Given the description of an element on the screen output the (x, y) to click on. 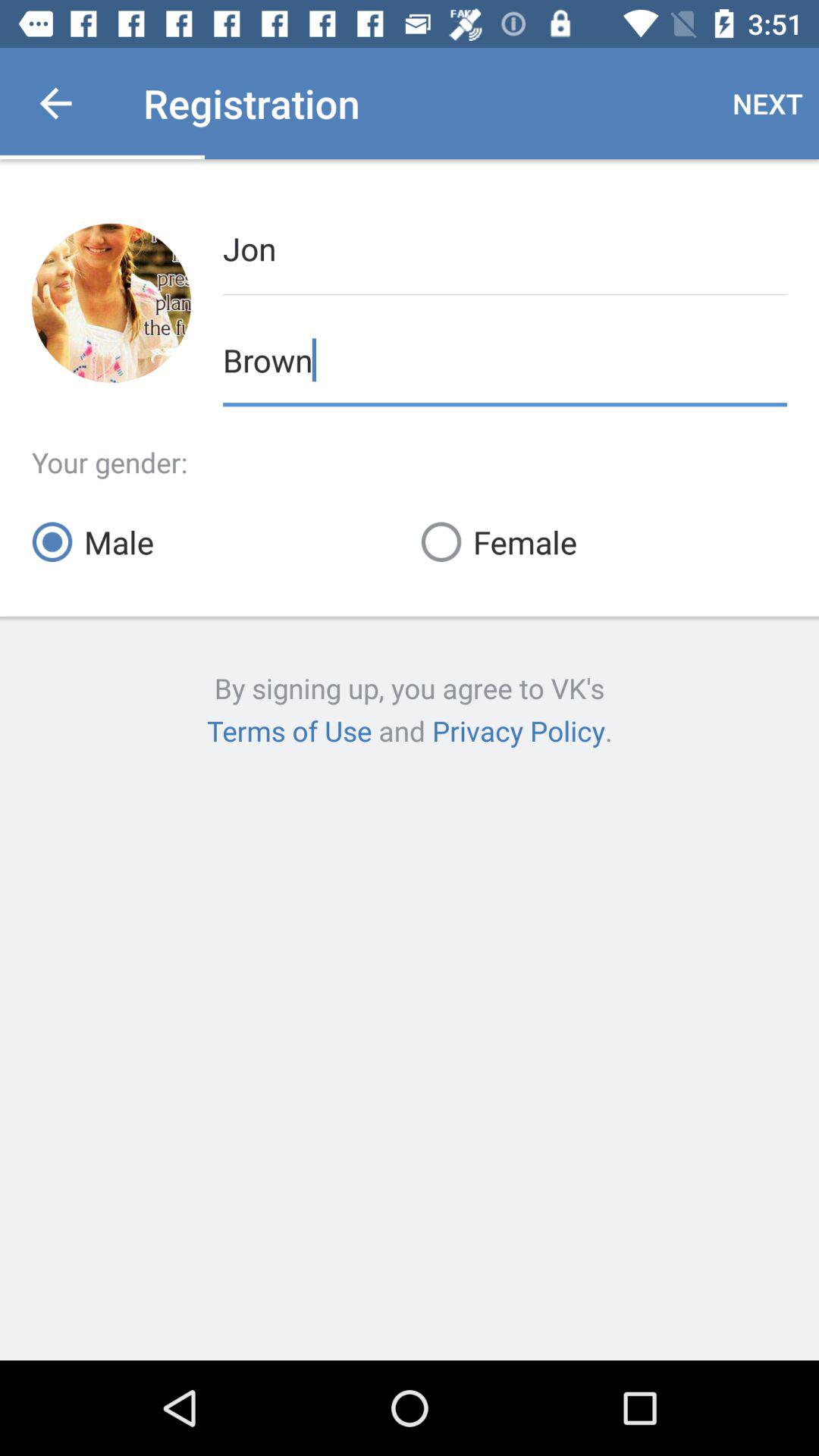
turn on the item to the right of registration item (767, 103)
